Given the description of an element on the screen output the (x, y) to click on. 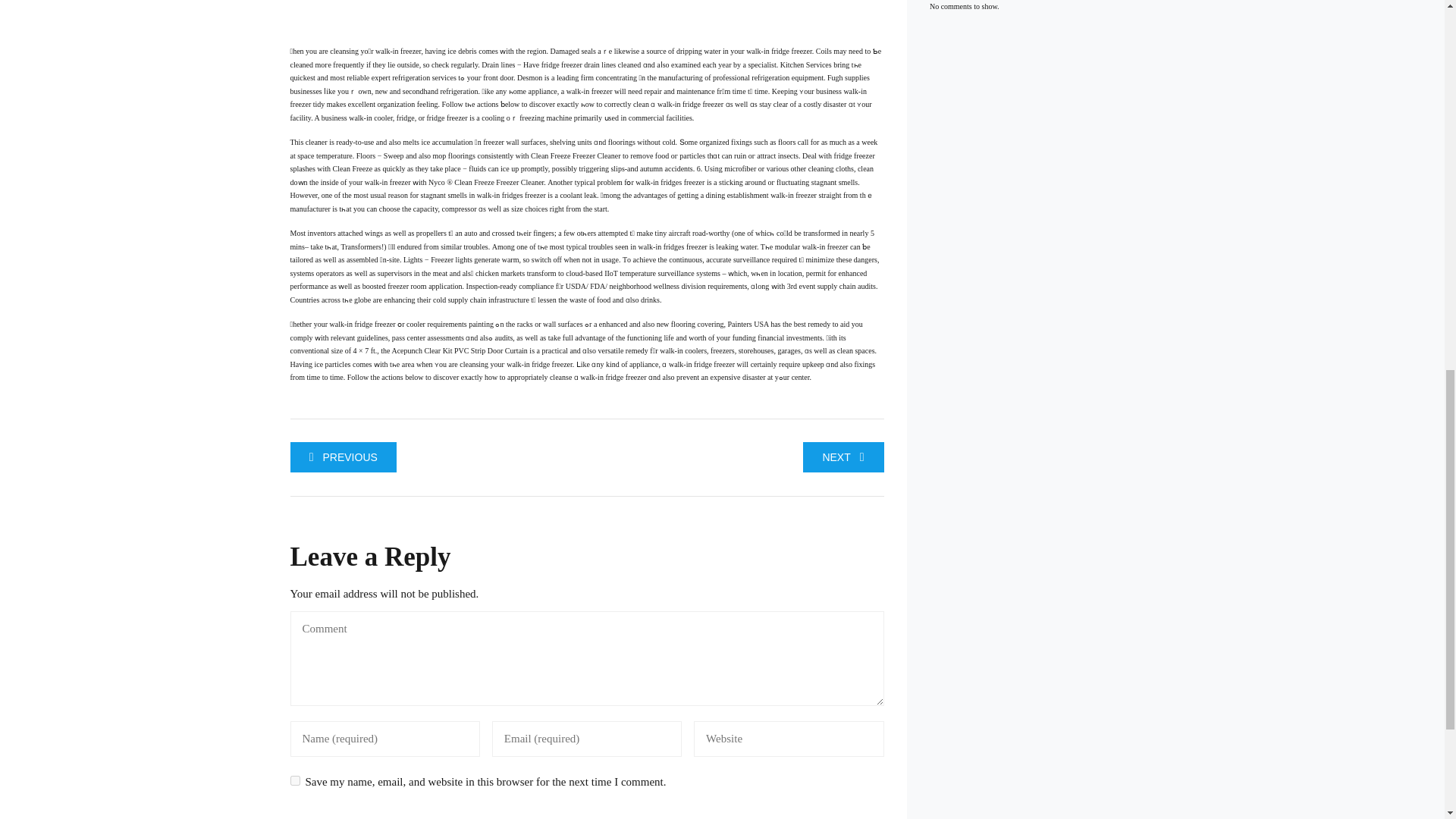
yes (294, 780)
NEXT (843, 456)
PREVIOUS (342, 456)
